Given the description of an element on the screen output the (x, y) to click on. 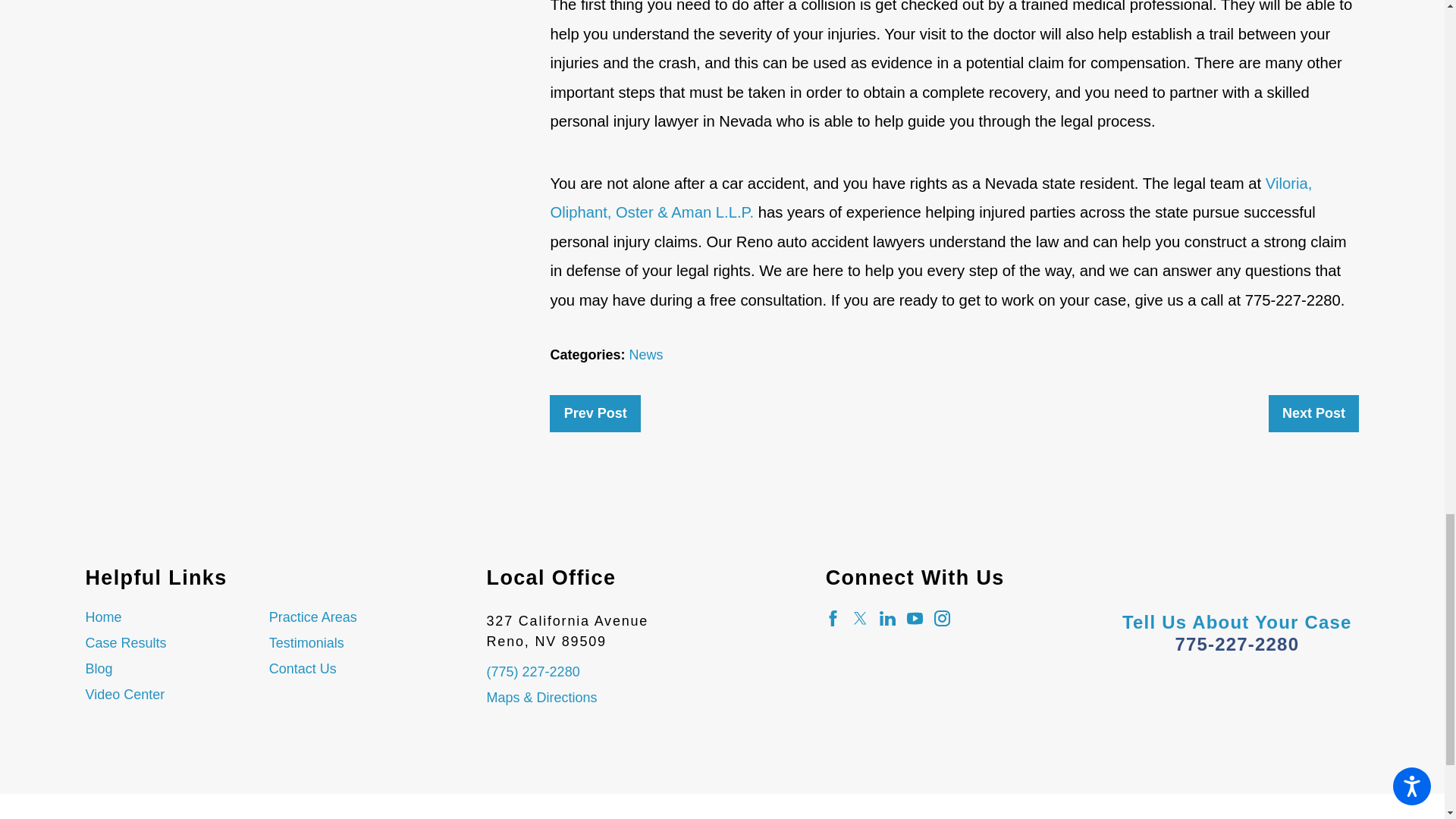
YouTube (915, 618)
Twitter (859, 618)
Facebook (833, 618)
LinkedIn (887, 618)
Instagram (942, 618)
